Given the description of an element on the screen output the (x, y) to click on. 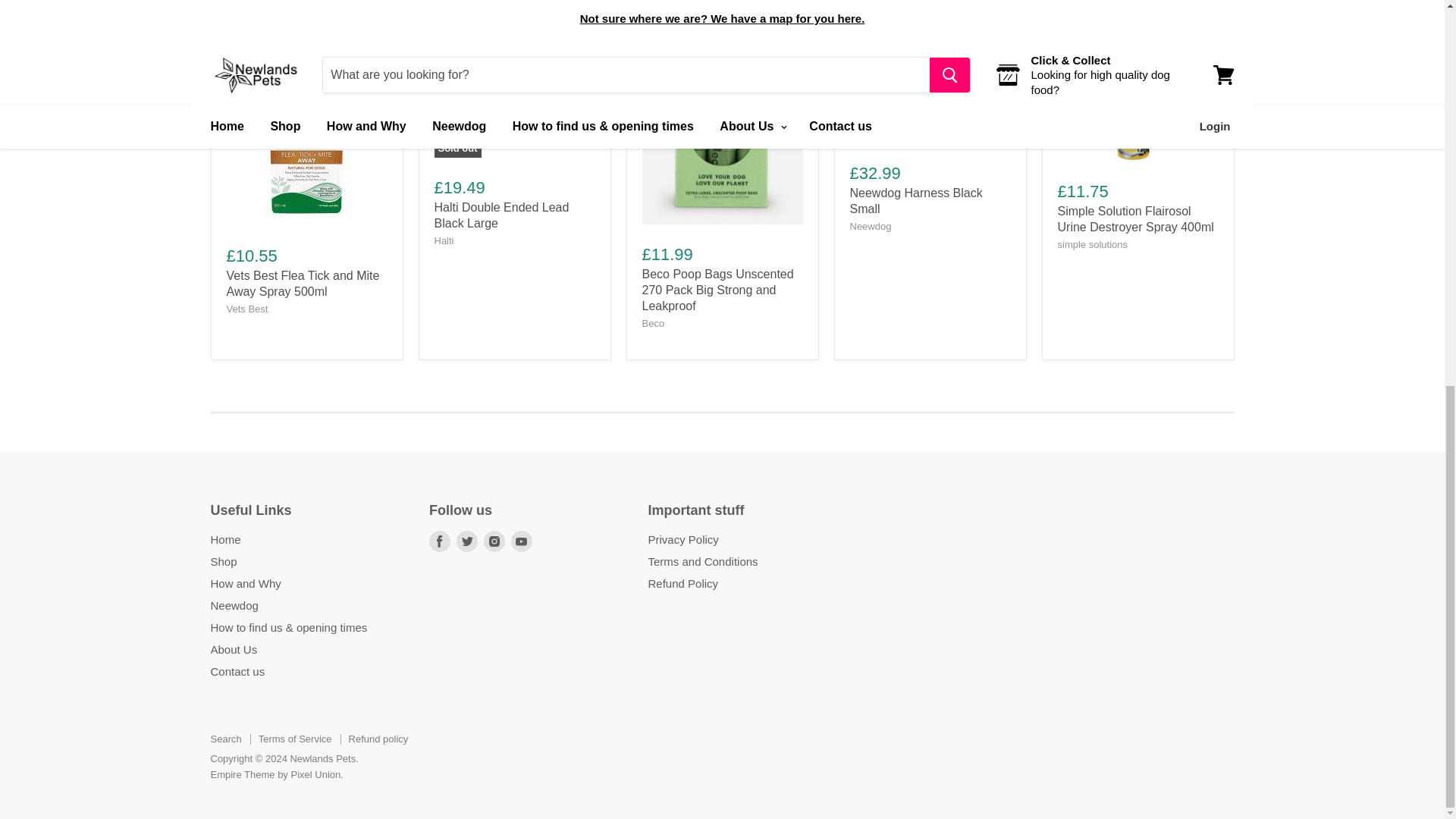
Facebook (439, 541)
Twitter (466, 541)
Youtube (521, 541)
Instagram (494, 541)
